Given the description of an element on the screen output the (x, y) to click on. 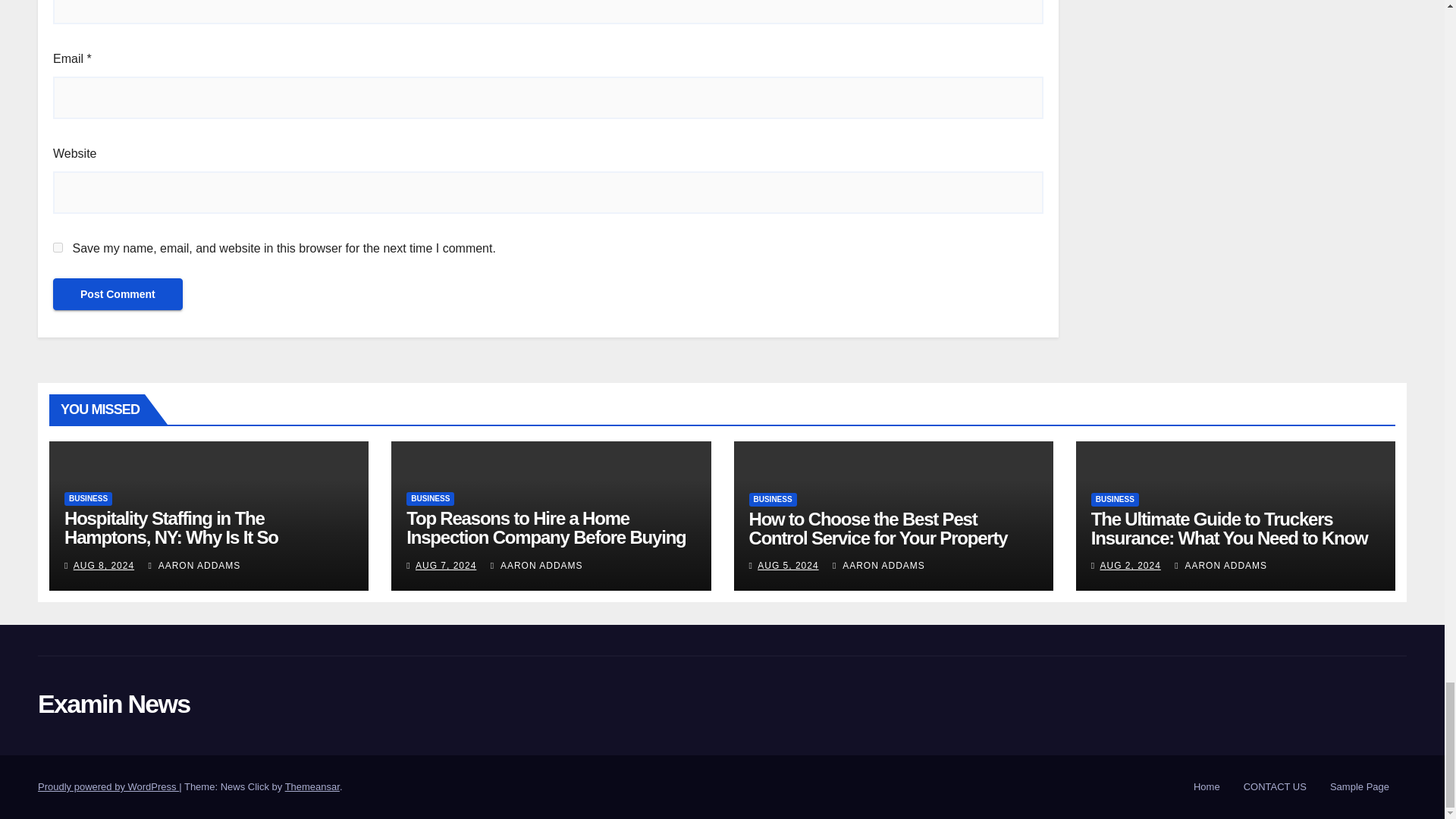
Home (1206, 786)
Post Comment (117, 294)
yes (57, 247)
